Given the description of an element on the screen output the (x, y) to click on. 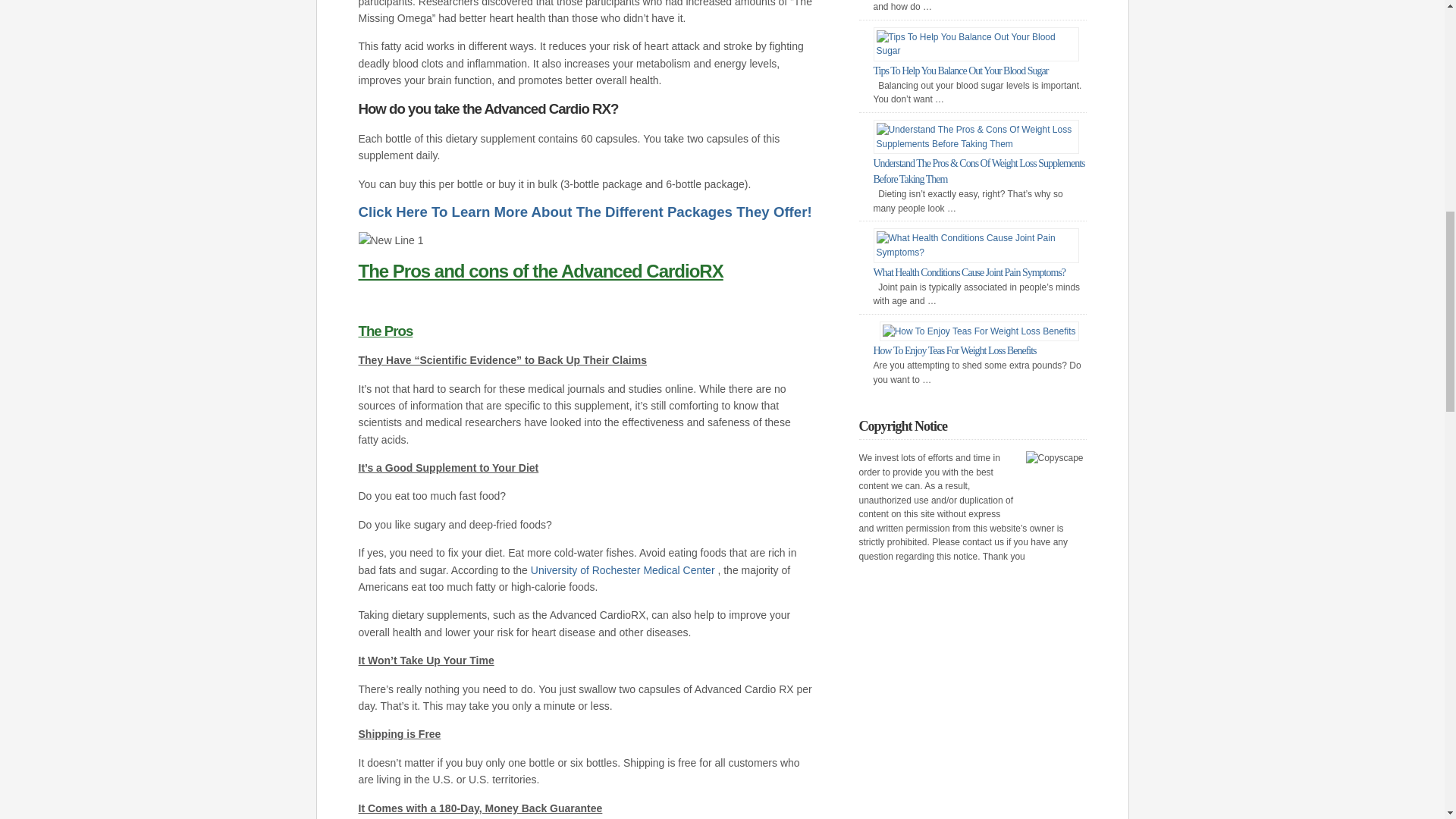
Permalink to How To Enjoy Teas For Weight Loss Benefits (954, 350)
Tips To Help You Balance Out Your Blood Sugar (960, 70)
What Health Conditions Cause Joint Pain Symptoms? (969, 272)
Permalink to Tips To Help You Balance Out Your Blood Sugar (960, 70)
University of Rochester Medical Center (622, 570)
